Given the description of an element on the screen output the (x, y) to click on. 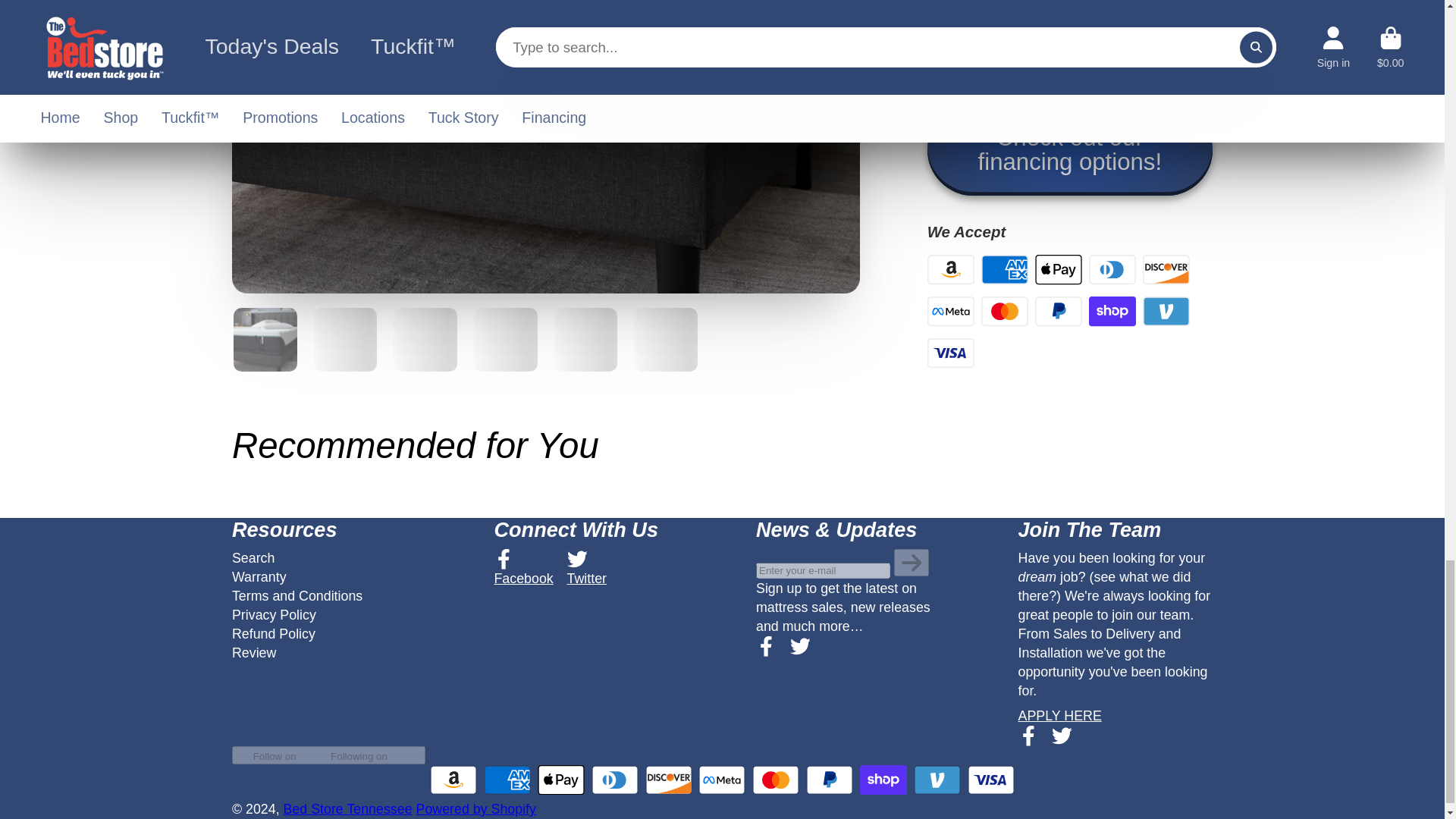
Visa (950, 352)
Bed Store Tennessee (347, 808)
Add to cart (1069, 42)
Warranty (258, 576)
Twitter (587, 568)
Facebook (1028, 735)
Refund Policy (273, 633)
Terms and Conditions (296, 595)
Venmo (1165, 310)
Shop Pay (1112, 310)
